Given the description of an element on the screen output the (x, y) to click on. 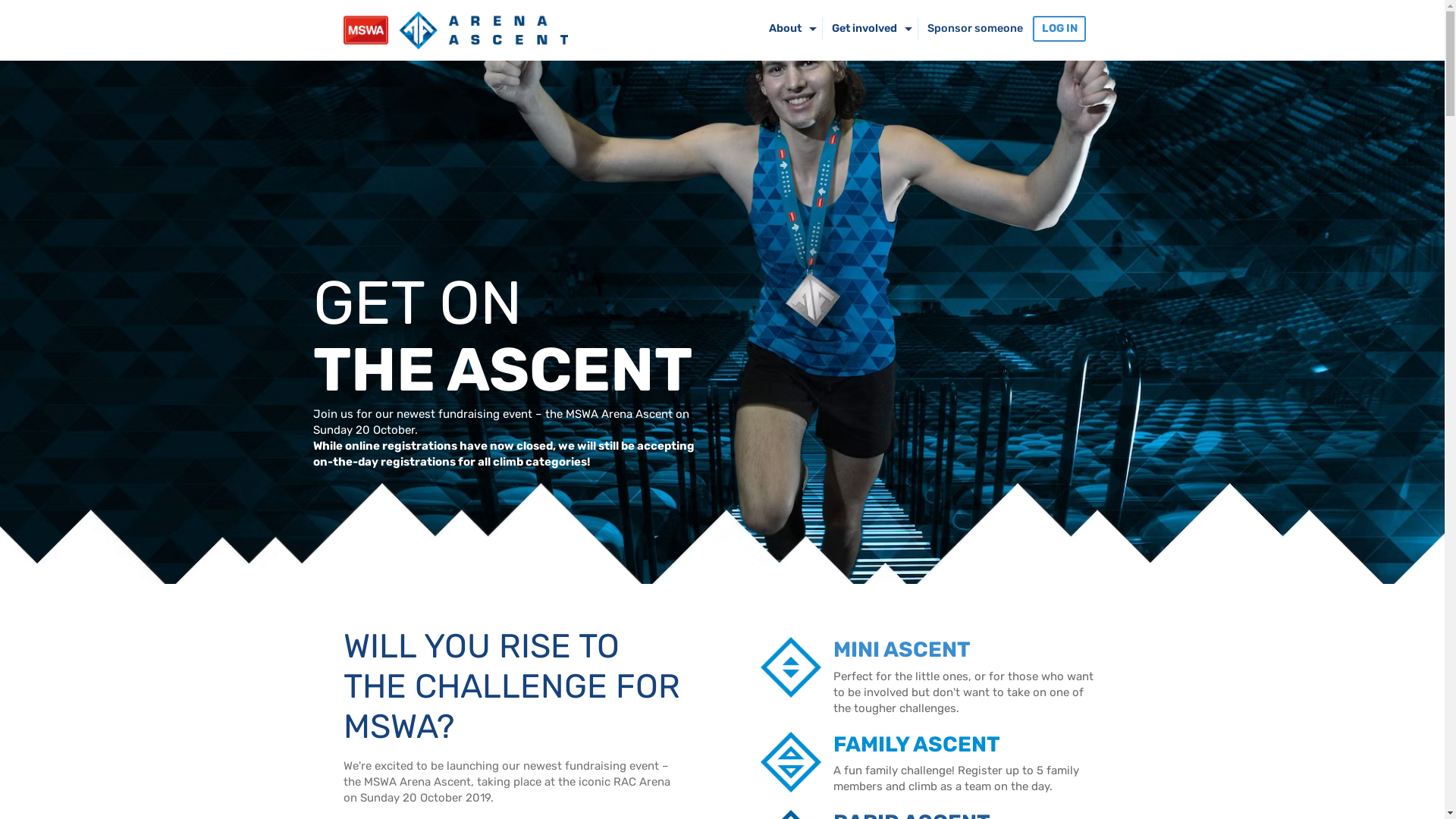
About Element type: text (784, 28)
LOG IN Element type: text (1058, 28)
Get involved Element type: text (864, 28)
Sponsor someone Element type: text (975, 28)
